Given the description of an element on the screen output the (x, y) to click on. 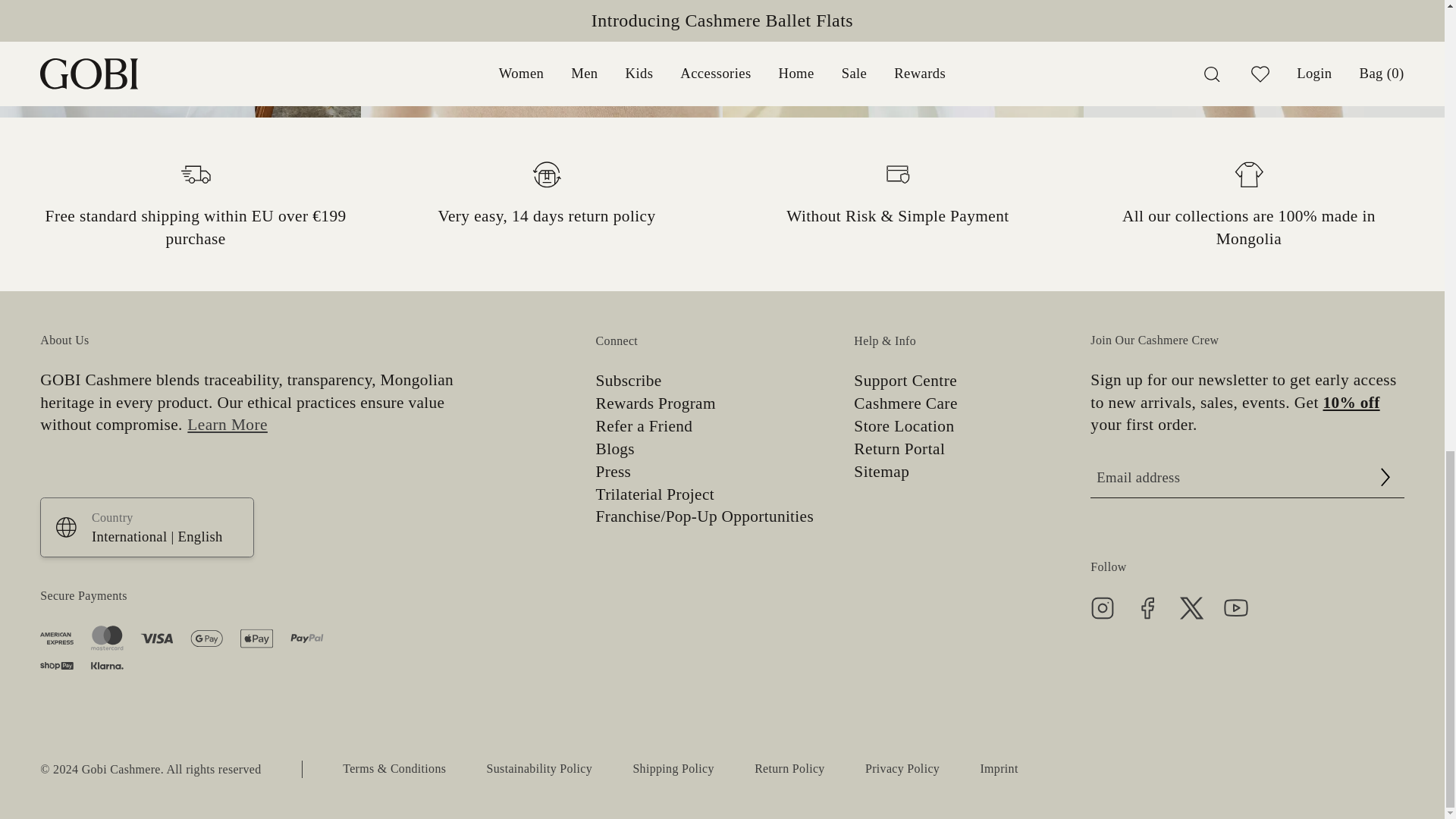
Support Centre (904, 381)
Refer a Friend (644, 427)
Blogs (614, 449)
Sitemap (880, 472)
Press (613, 472)
Learn More (225, 424)
Store Location (903, 427)
Subscribe (628, 381)
Rewards Program (655, 404)
Return Portal (898, 449)
Cashmere Care (904, 404)
Trilaterial Project (654, 495)
